Given the description of an element on the screen output the (x, y) to click on. 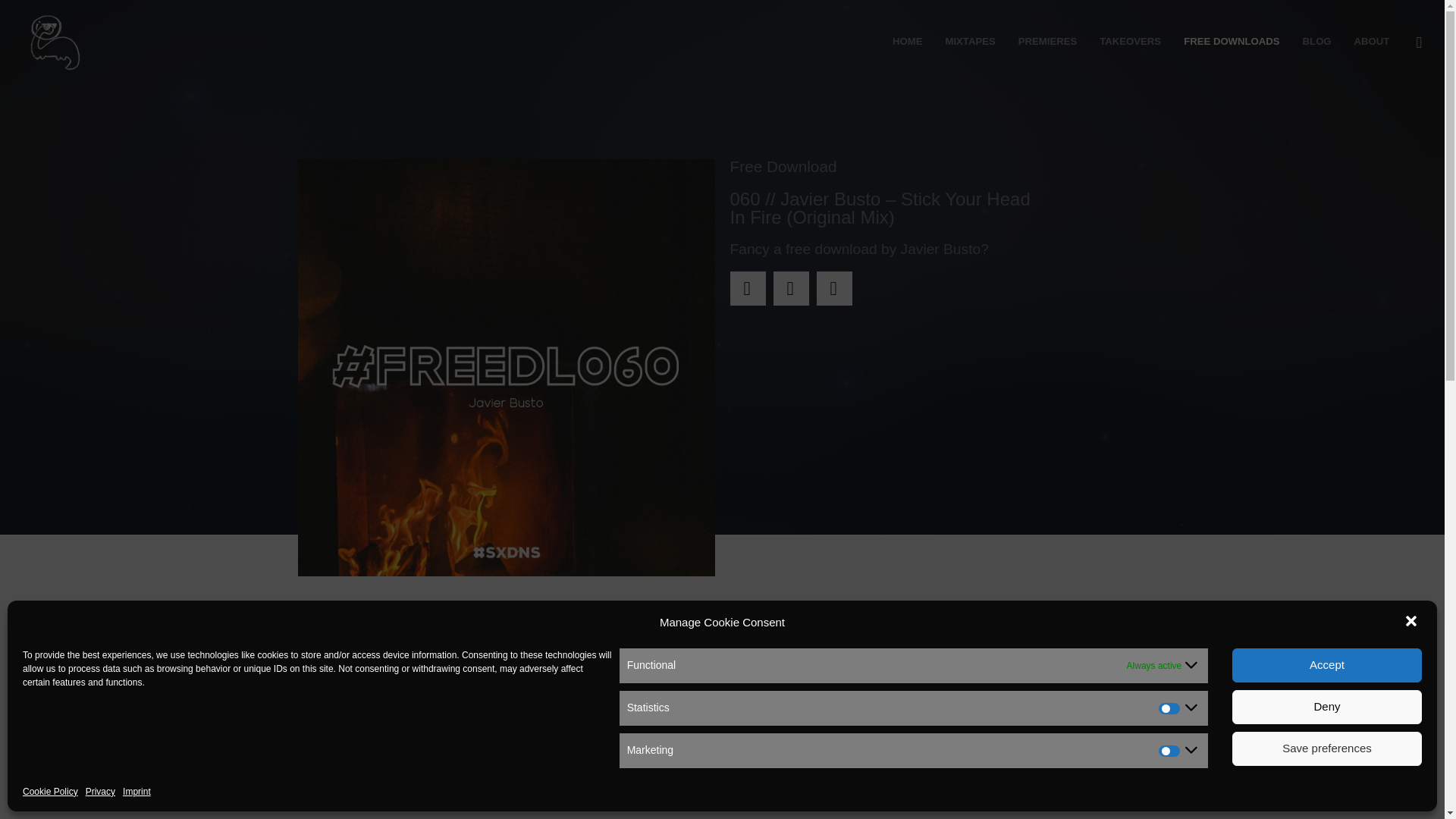
TAKEOVERS (1129, 42)
Javier Busto (372, 717)
ABOUT (1371, 42)
Save preferences (1326, 748)
Bandcamp (732, 761)
PREMIERES (1048, 42)
MIXTAPES (969, 42)
Rec Division Estudios (997, 673)
BLOG (1316, 42)
FREE DOWNLOADS (1231, 42)
Deny (1326, 706)
Accept (1326, 665)
Privacy (100, 791)
HOME (906, 42)
Imprint (136, 791)
